Given the description of an element on the screen output the (x, y) to click on. 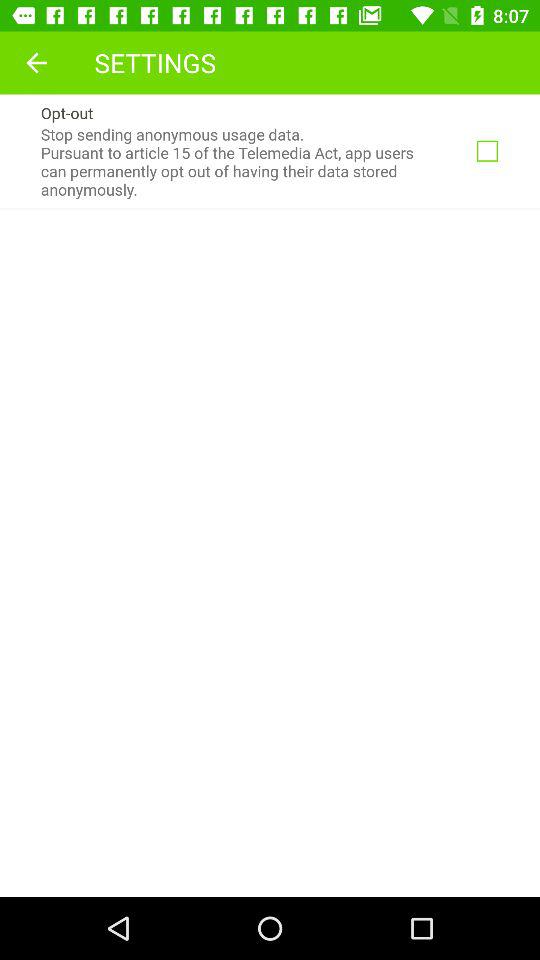
turn on item above the opt-out (36, 62)
